Given the description of an element on the screen output the (x, y) to click on. 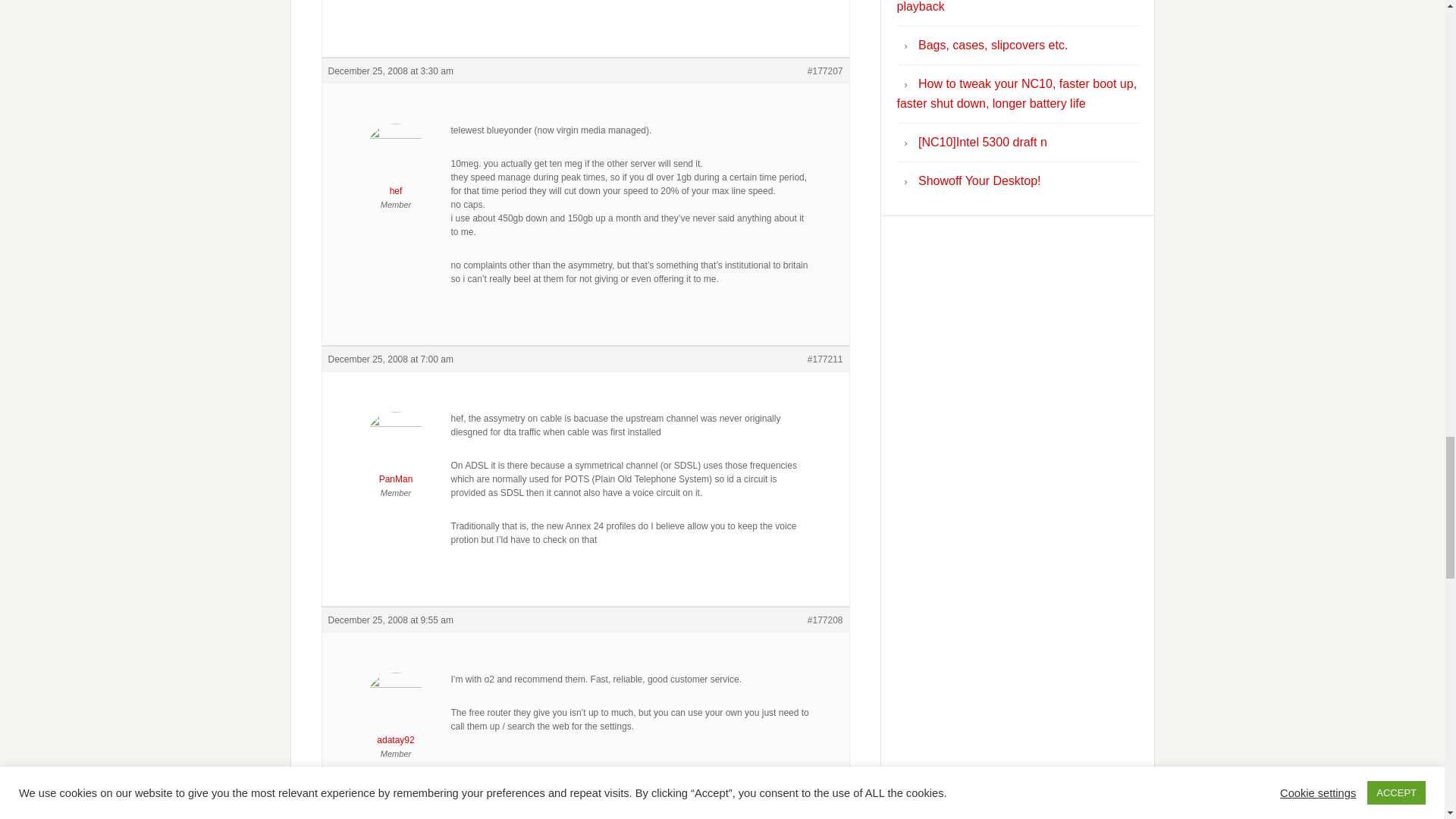
View adatay92's profile (395, 712)
View PanMan's profile (395, 452)
hef (395, 164)
View hef's profile (395, 164)
